Given the description of an element on the screen output the (x, y) to click on. 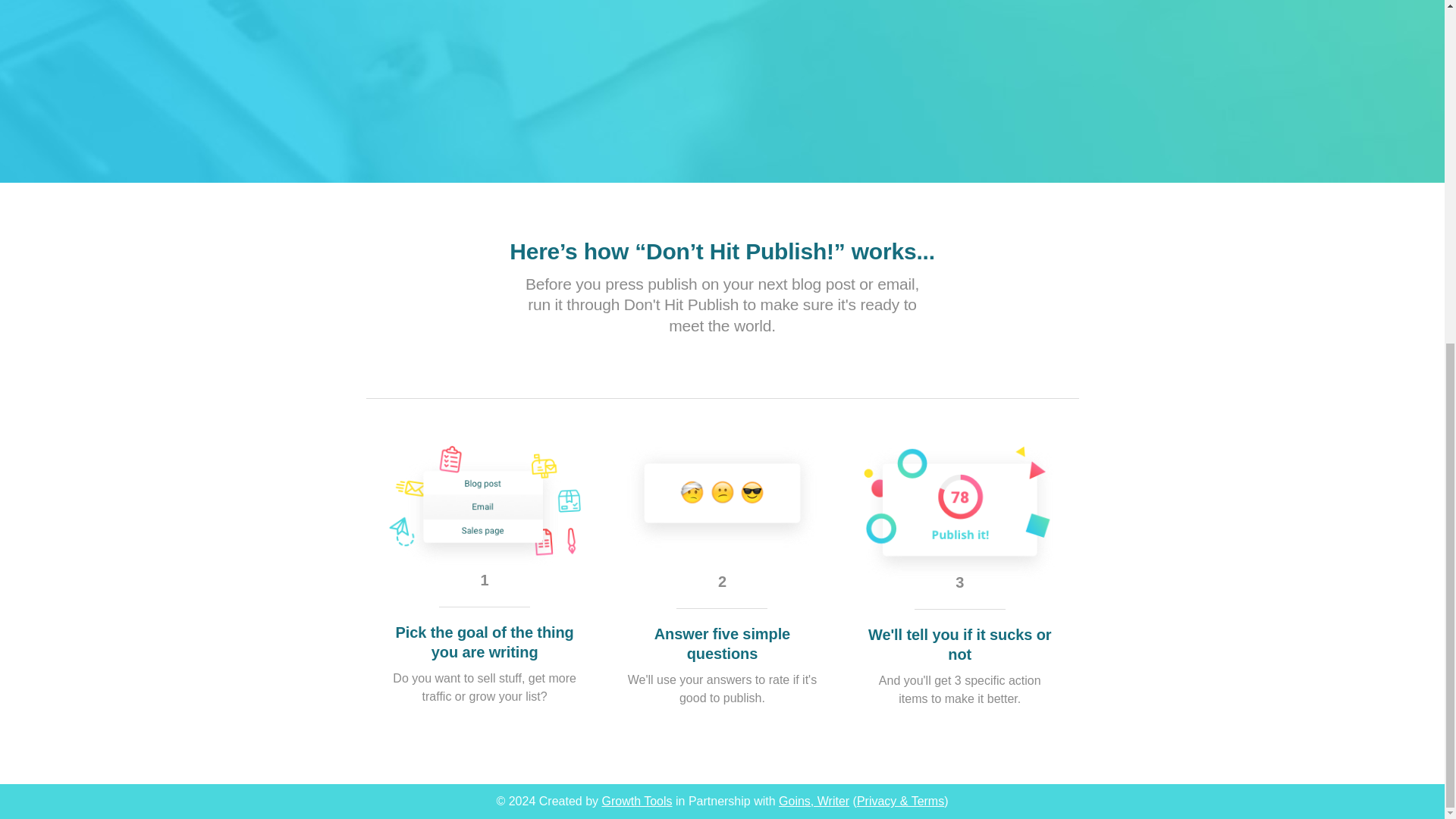
Goins, Writer (813, 800)
Growth Tools (636, 800)
